Given the description of an element on the screen output the (x, y) to click on. 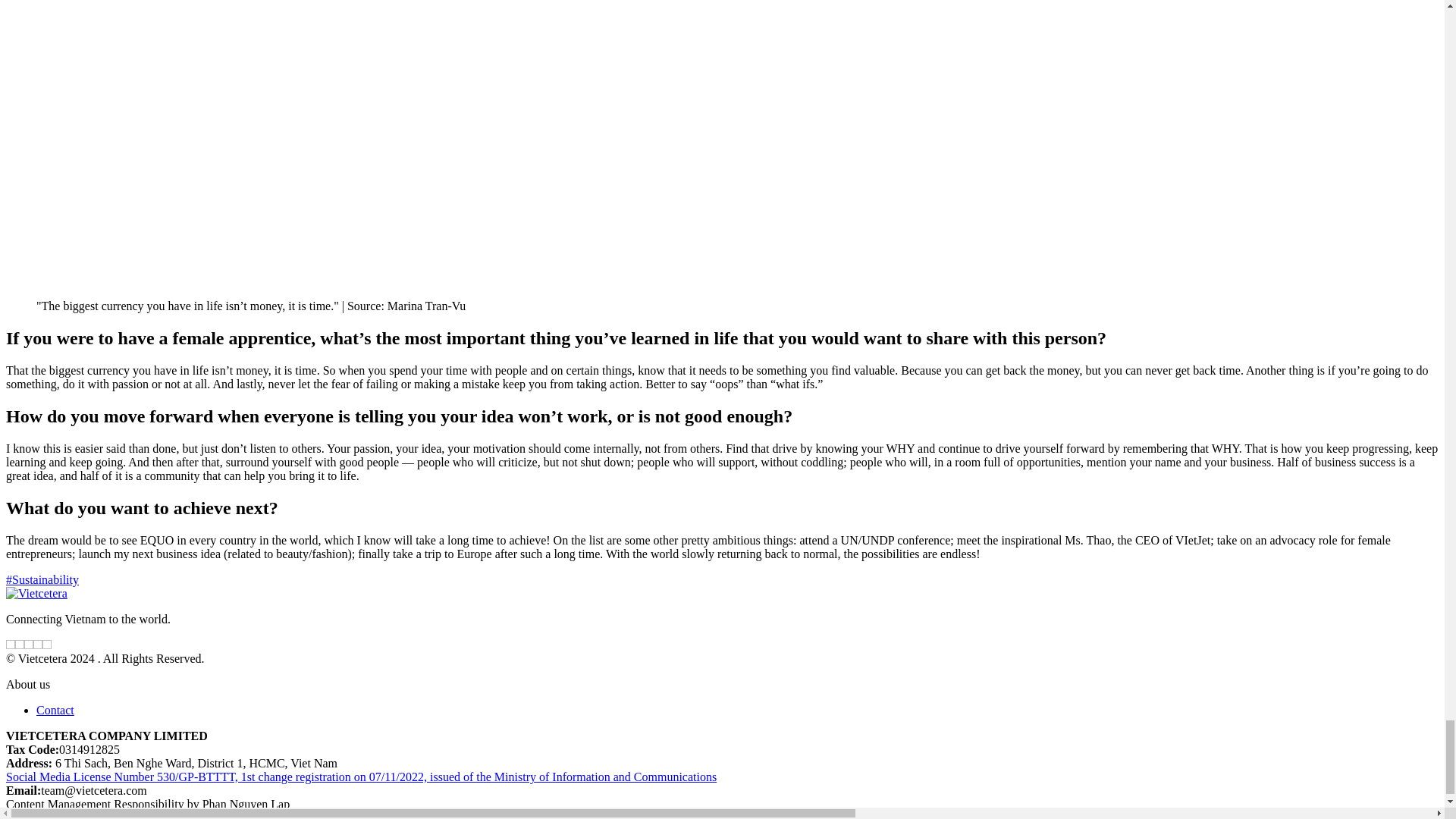
Sustainability (41, 579)
Contact (55, 709)
